Given the description of an element on the screen output the (x, y) to click on. 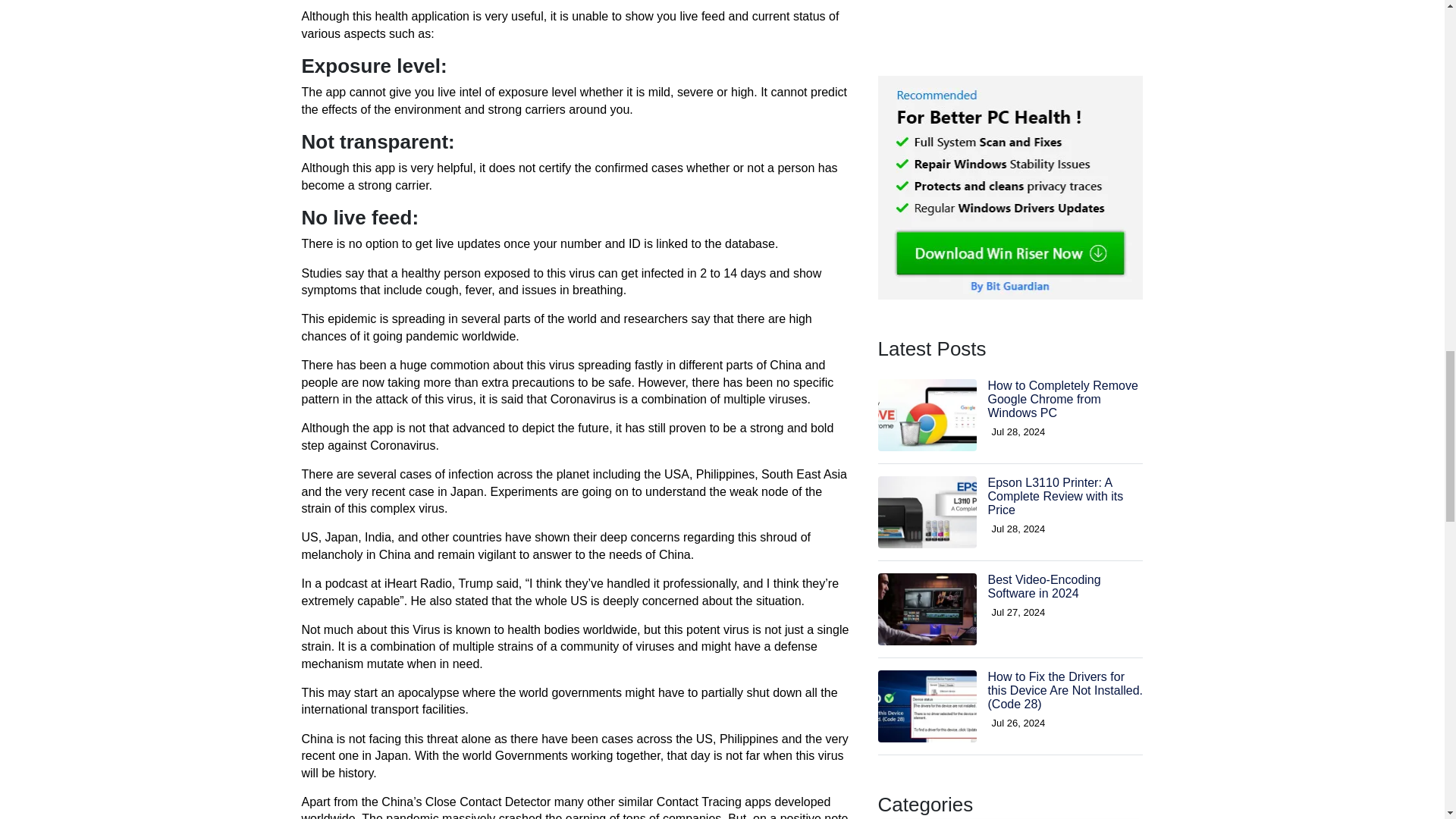
Subscribe Now (1010, 626)
